Given the description of an element on the screen output the (x, y) to click on. 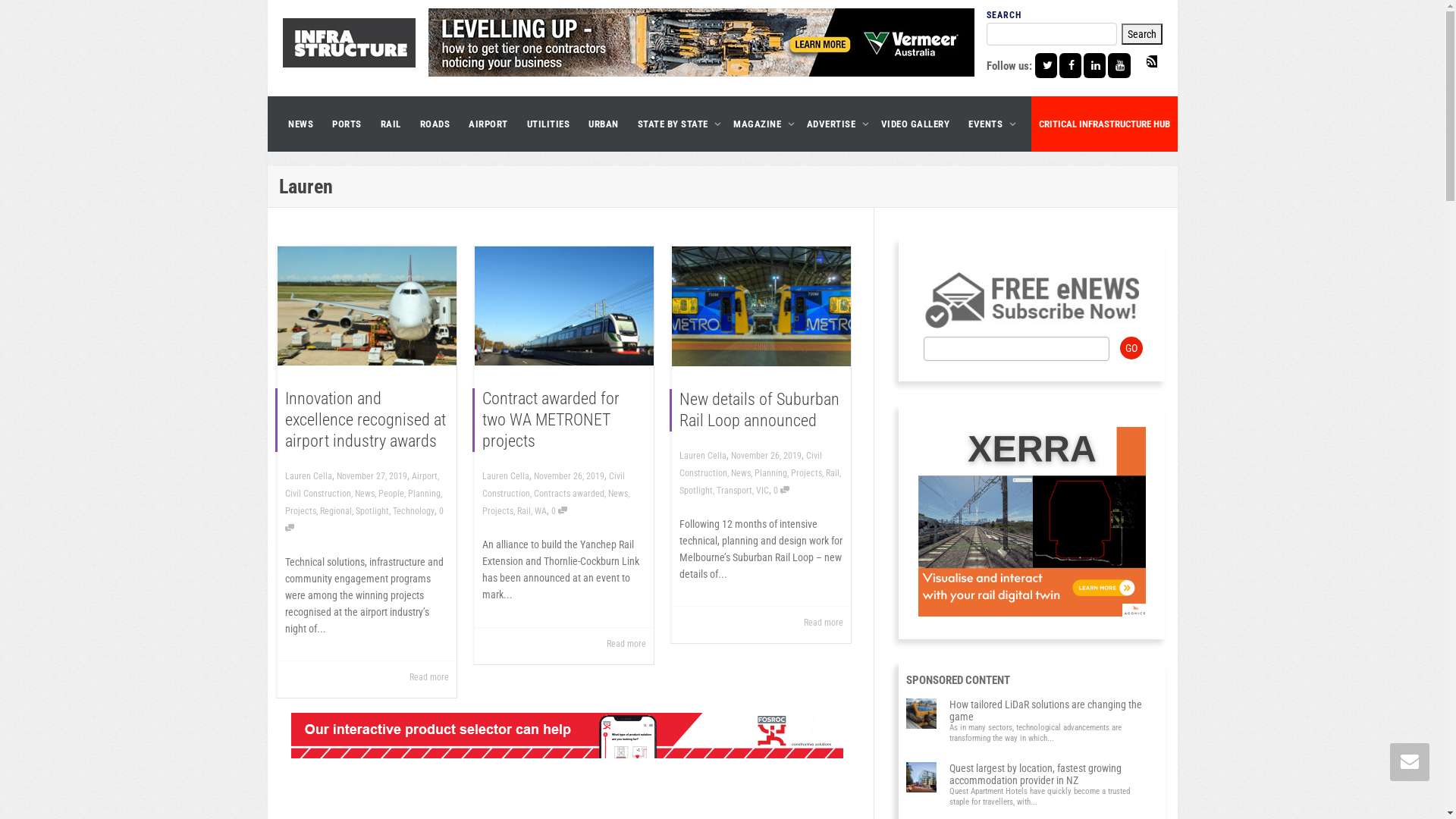
ADVERTISE Element type: text (834, 123)
Planning Element type: text (423, 493)
VIDEO GALLERY Element type: text (915, 123)
Civil Construction Element type: text (750, 464)
Contracts awarded Element type: text (568, 493)
RAIL Element type: text (390, 123)
0 Element type: text (781, 490)
Go Element type: text (1130, 347)
November 27, 2019 Element type: text (371, 475)
MAGAZINE Element type: text (760, 123)
ROADS Element type: text (435, 123)
Civil Construction Element type: text (553, 484)
Technology Element type: text (413, 510)
Rail Element type: text (831, 472)
Spotlight Element type: text (371, 510)
Lauren Cella Element type: text (505, 475)
URBAN Element type: text (603, 123)
NEWS Element type: text (300, 123)
VIC Element type: text (761, 490)
Regional Element type: text (335, 510)
New details of Suburban Rail Loop announced Element type: text (759, 409)
0 Element type: text (558, 510)
Projects Element type: text (805, 472)
Contract awarded for two WA METRONET projects Element type: text (550, 419)
Rail Element type: text (523, 510)
November 26, 2019 Element type: text (568, 475)
News Element type: text (364, 493)
AIRPORT Element type: text (488, 123)
0 Element type: text (364, 519)
News Element type: text (740, 472)
Projects Element type: text (497, 510)
EVENTS Element type: text (988, 123)
Projects Element type: text (300, 510)
Lauren Cella Element type: text (308, 475)
WA Element type: text (539, 510)
People Element type: text (390, 493)
Search Element type: text (1140, 33)
Transport Element type: text (733, 490)
UTILITIES Element type: text (547, 123)
Airport Element type: text (423, 475)
Planning Element type: text (769, 472)
Infrastructure Magazine Element type: hover (348, 42)
Lauren Cella Element type: text (702, 455)
Spotlight Element type: text (695, 490)
November 26, 2019 Element type: text (766, 455)
CRITICAL INFRASTRUCTURE HUB Element type: text (1104, 123)
Civil Construction Element type: text (318, 493)
RSS Feed Element type: text (1097, 86)
News Element type: text (617, 493)
STATE BY STATE Element type: text (675, 123)
PORTS Element type: text (346, 123)
